Given the description of an element on the screen output the (x, y) to click on. 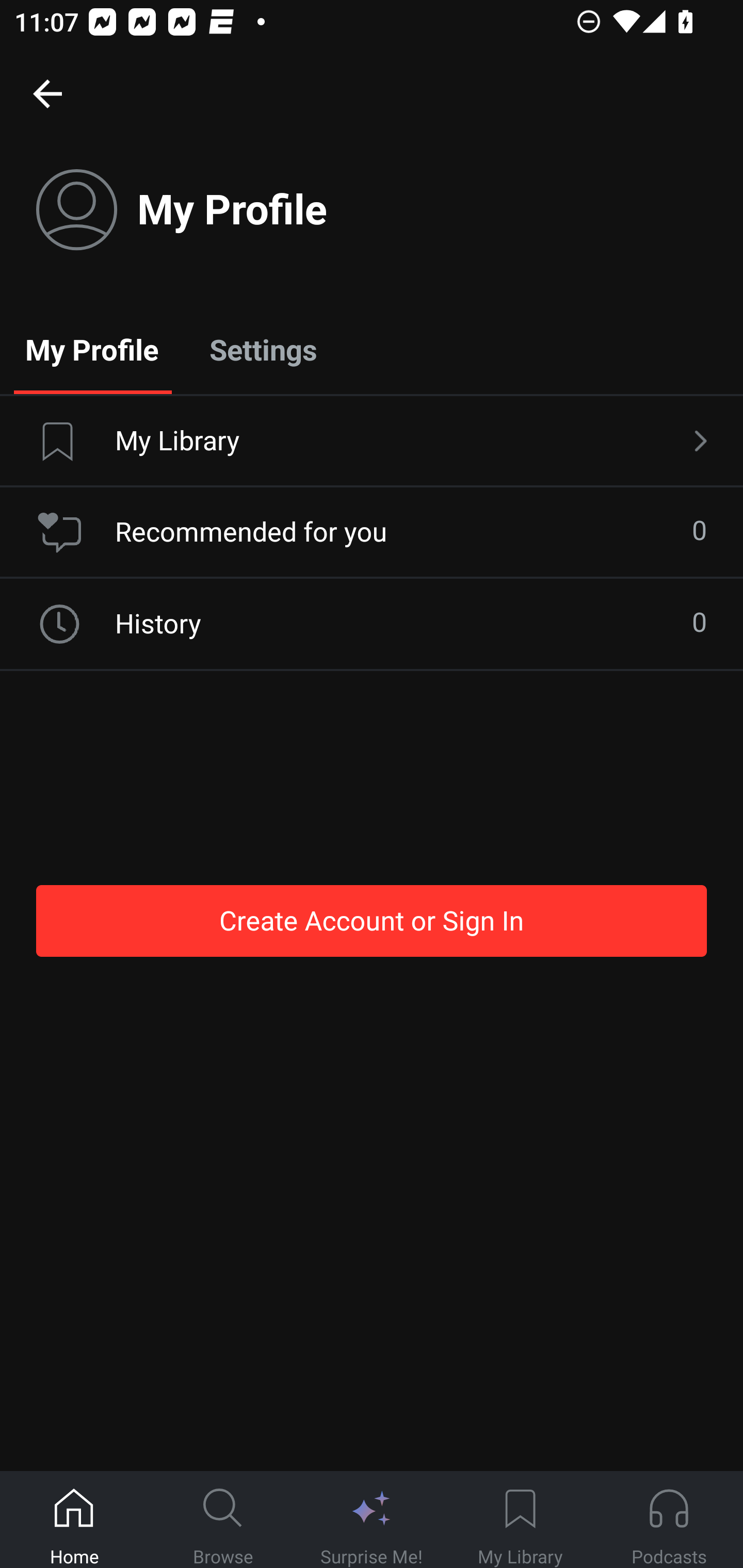
Home, back (47, 92)
My Profile (92, 348)
Settings (263, 348)
My Library (371, 441)
Recommended for you 0 (371, 532)
History 0 (371, 623)
Create Account or Sign In (371, 920)
Home (74, 1520)
Browse (222, 1520)
Surprise Me! (371, 1520)
My Library (519, 1520)
Podcasts (668, 1520)
